Given the description of an element on the screen output the (x, y) to click on. 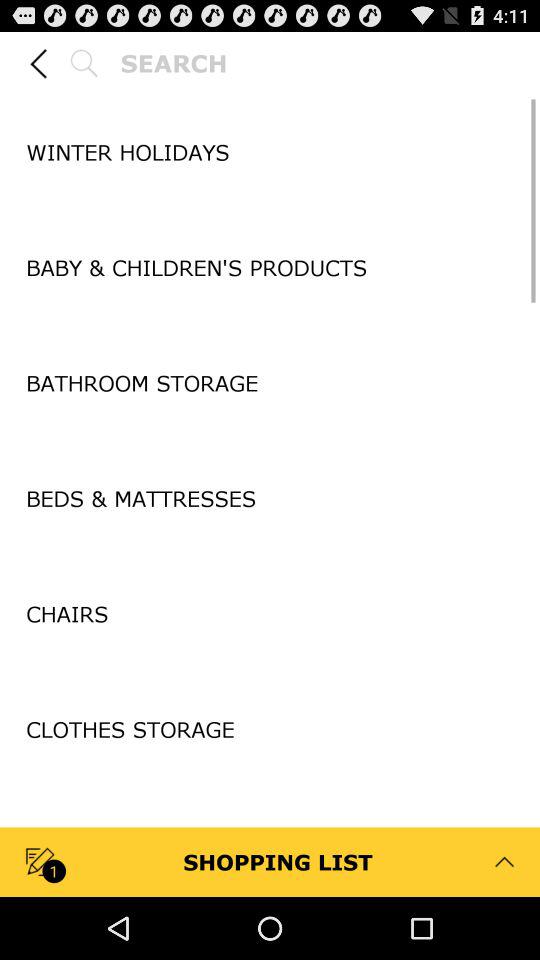
turn off item above baby children s (270, 210)
